Given the description of an element on the screen output the (x, y) to click on. 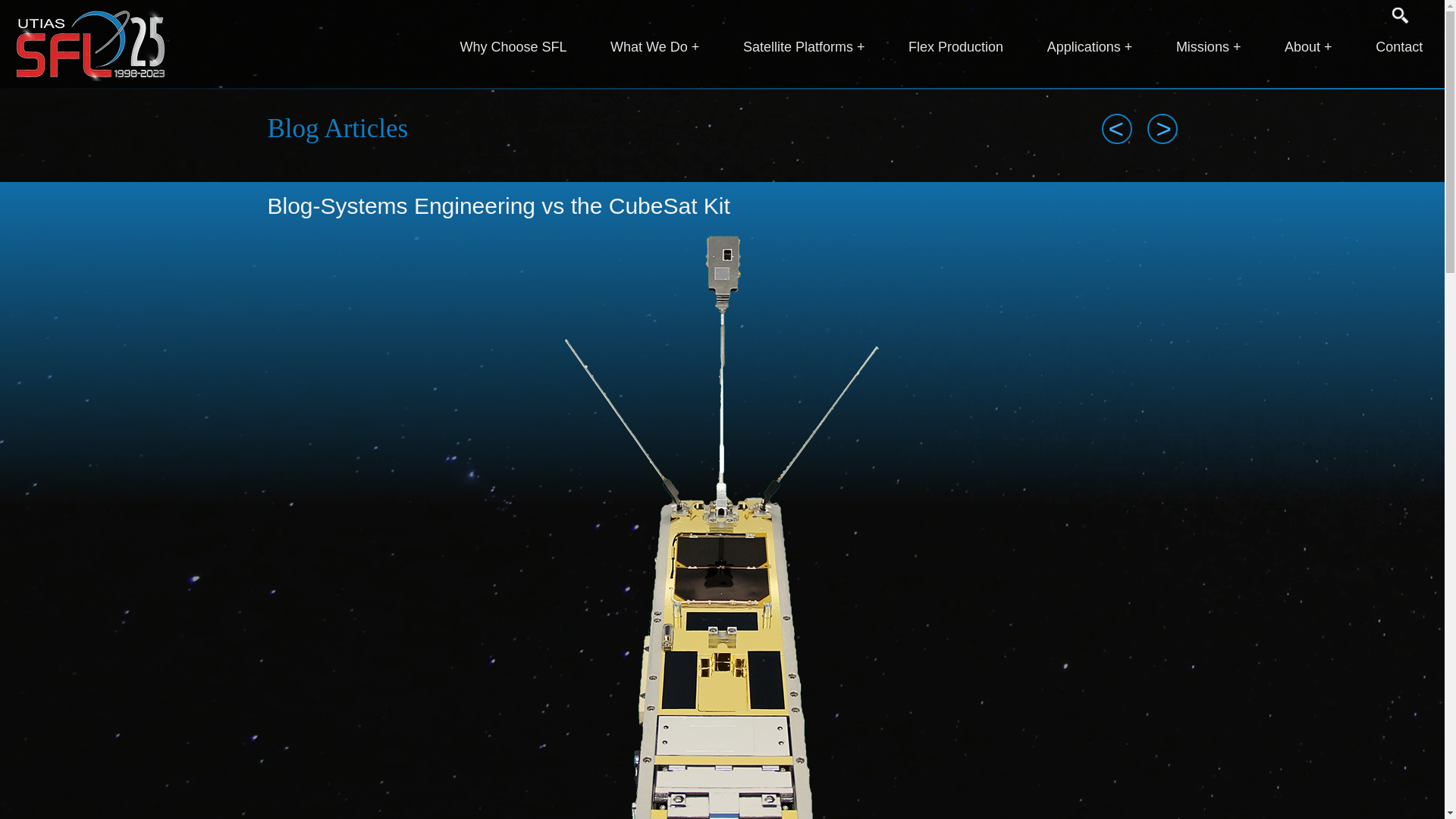
Satellite Platforms (803, 46)
Flex Production (955, 46)
Why Choose SFL (513, 46)
Missions (1208, 46)
Applications (1089, 46)
What We Do (654, 46)
About (1308, 46)
